Given the description of an element on the screen output the (x, y) to click on. 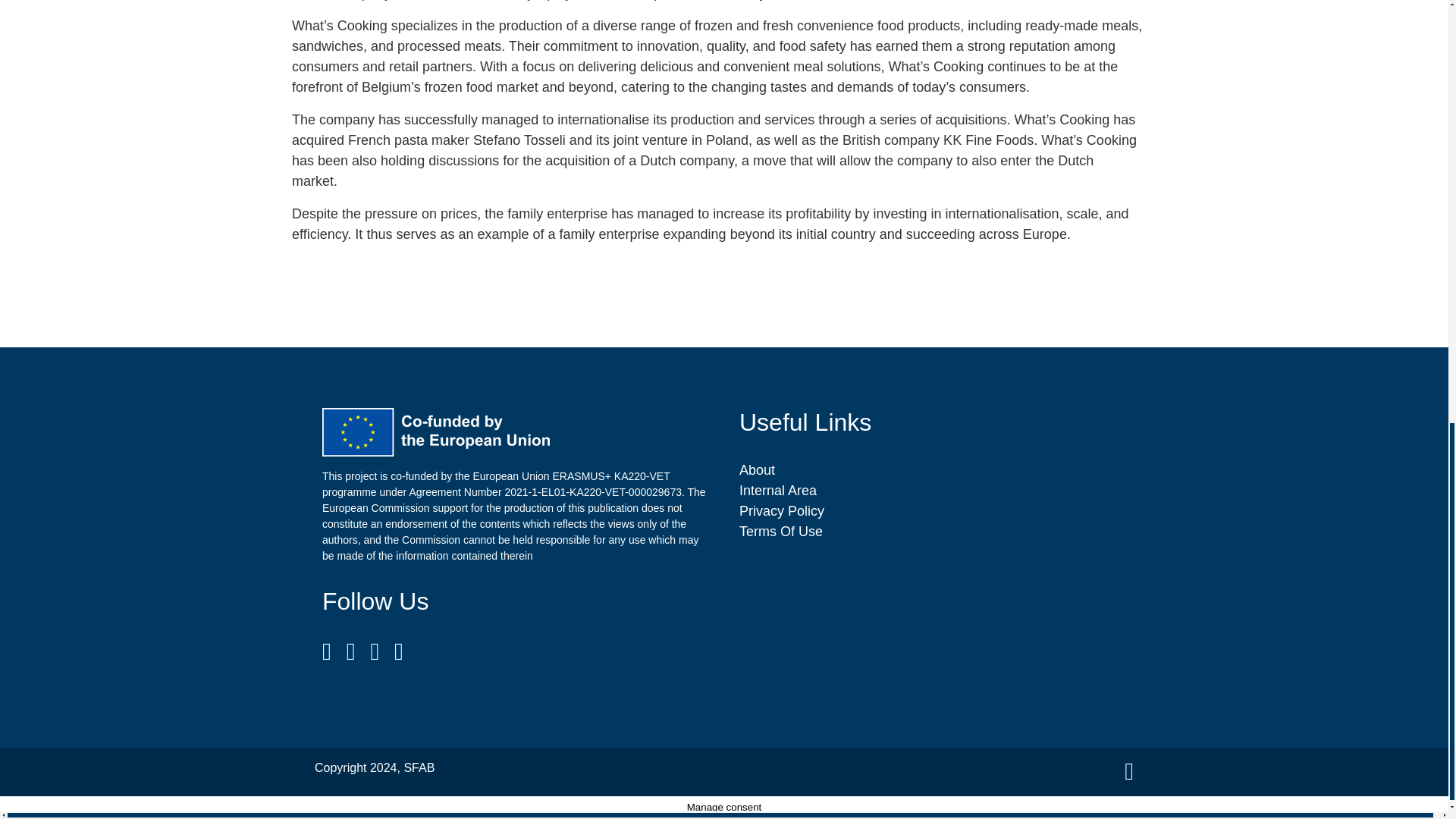
Terms Of Use (780, 531)
SFAB (418, 767)
About (756, 469)
Internal Area (777, 490)
Privacy Policy (781, 510)
